Given the description of an element on the screen output the (x, y) to click on. 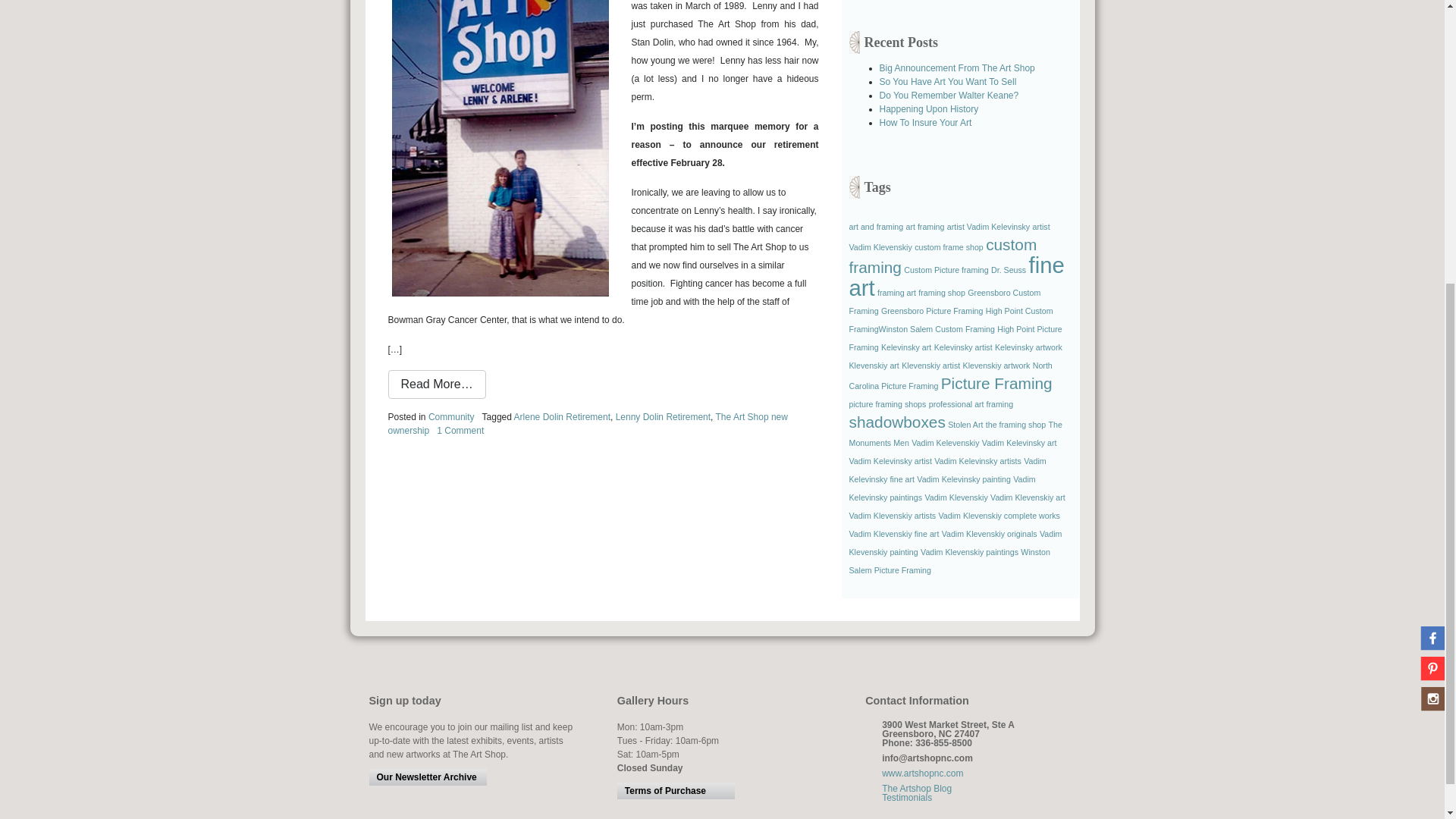
artist Vadim Kelevinsky (988, 225)
So You Have Art You Want To Sell (947, 81)
Community (451, 416)
The Art Shop new ownership (587, 423)
Happening Upon History (928, 109)
Lenny Dolin Retirement (662, 416)
How To Insure Your Art (925, 122)
Do You Remember Walter Keane? (949, 95)
artist Vadim Klevenskiy (948, 236)
Arlene Dolin Retirement (561, 416)
art framing (924, 225)
art and framing (876, 225)
custom framing (942, 255)
Custom Picture framing (946, 269)
Big Announcement From The Art Shop (957, 68)
